Given the description of an element on the screen output the (x, y) to click on. 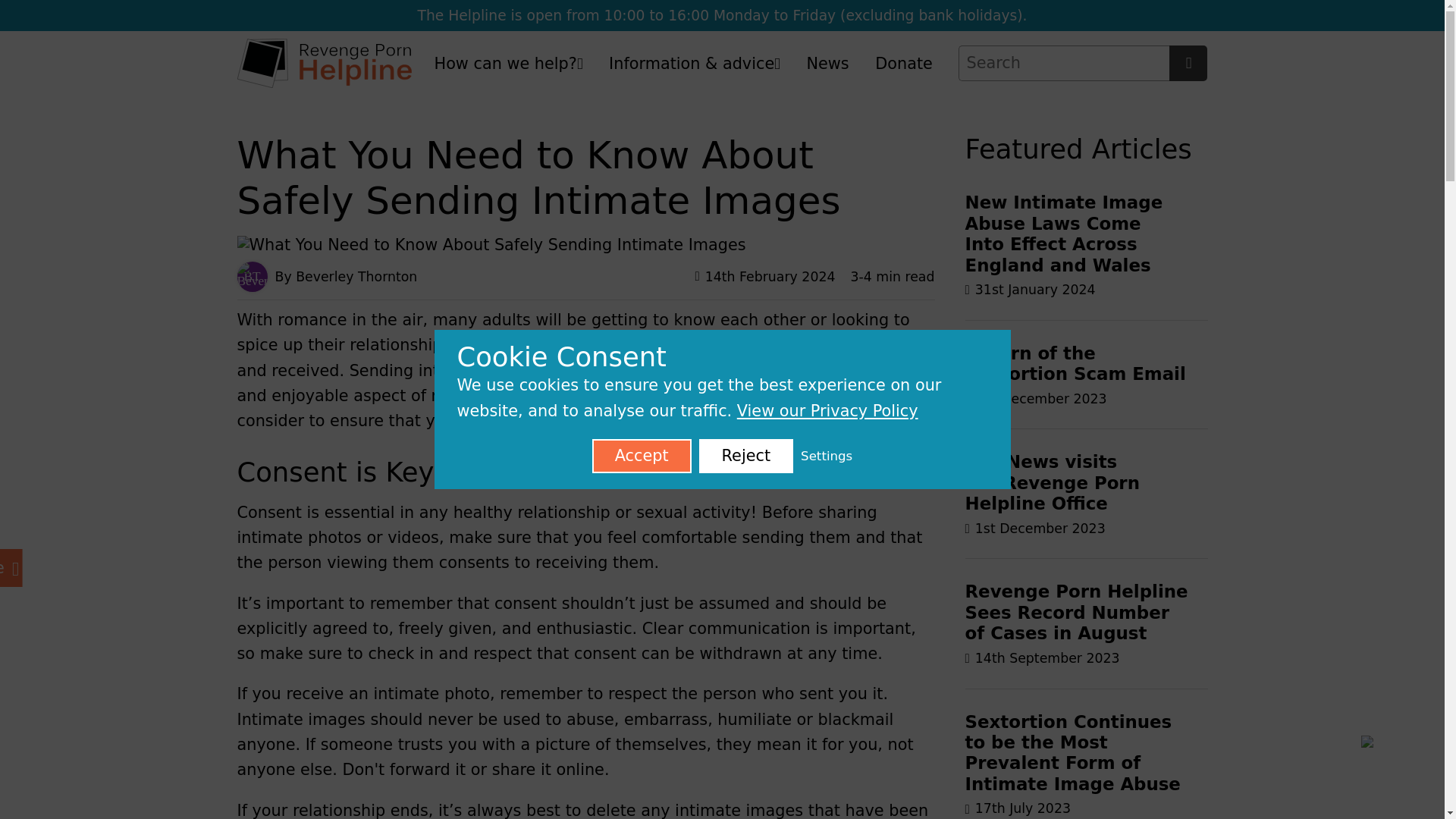
View our Privacy Policy (827, 411)
Reject all optional cookies (745, 455)
savecookies (77, 17)
View and customise the cookies you want to use (825, 456)
Accept all the cookies we would like to set (641, 455)
Reject (745, 455)
How can we help? (507, 63)
How can we help? (507, 63)
Go back to the homepage (322, 62)
Accept (641, 455)
